Given the description of an element on the screen output the (x, y) to click on. 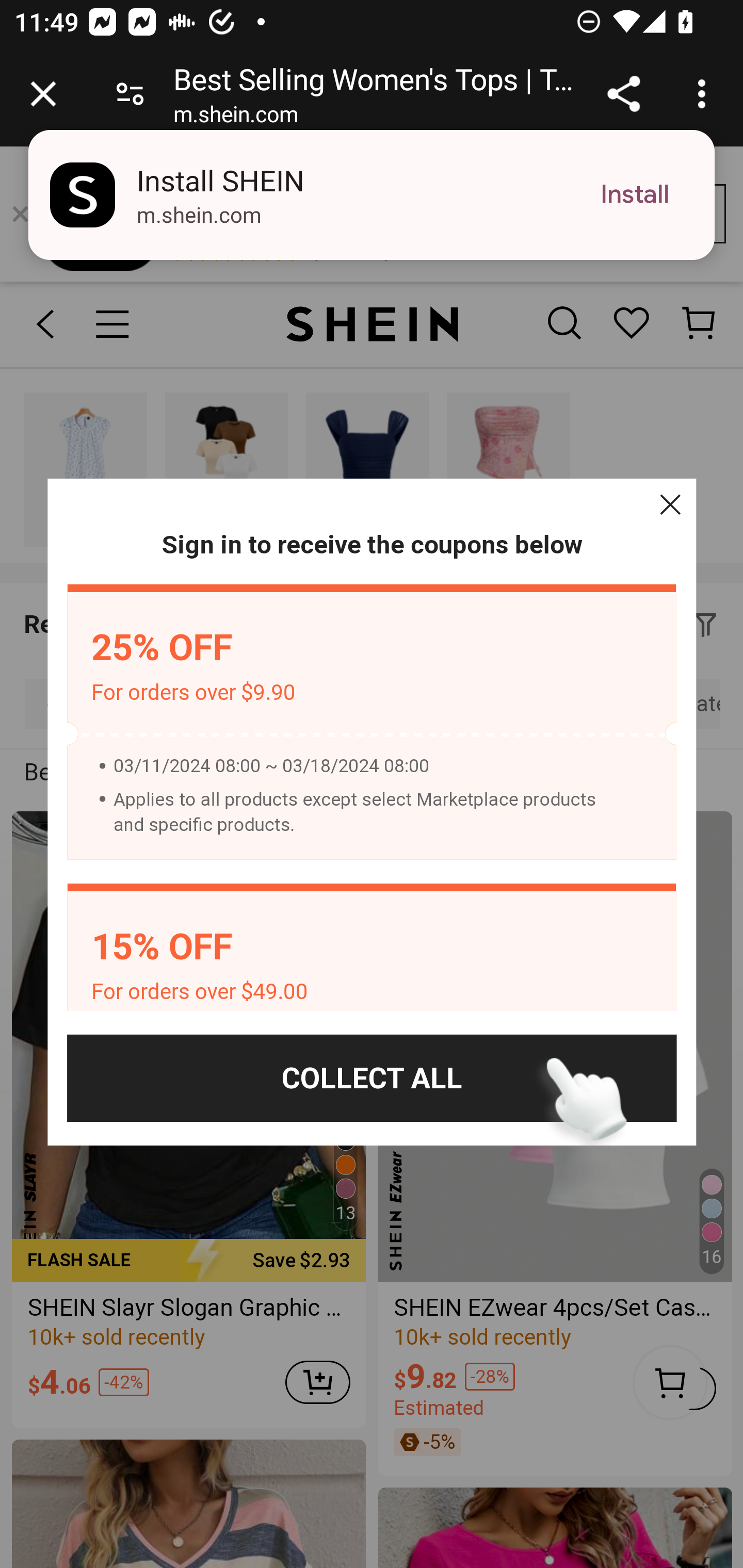
Close tab (43, 93)
Share link address (623, 93)
Customize and control Google Chrome (705, 93)
Connection is secure (129, 93)
m.shein.com (235, 117)
Install (634, 195)
Close (669, 503)
COLLECT ALL (371, 1077)
